Given the description of an element on the screen output the (x, y) to click on. 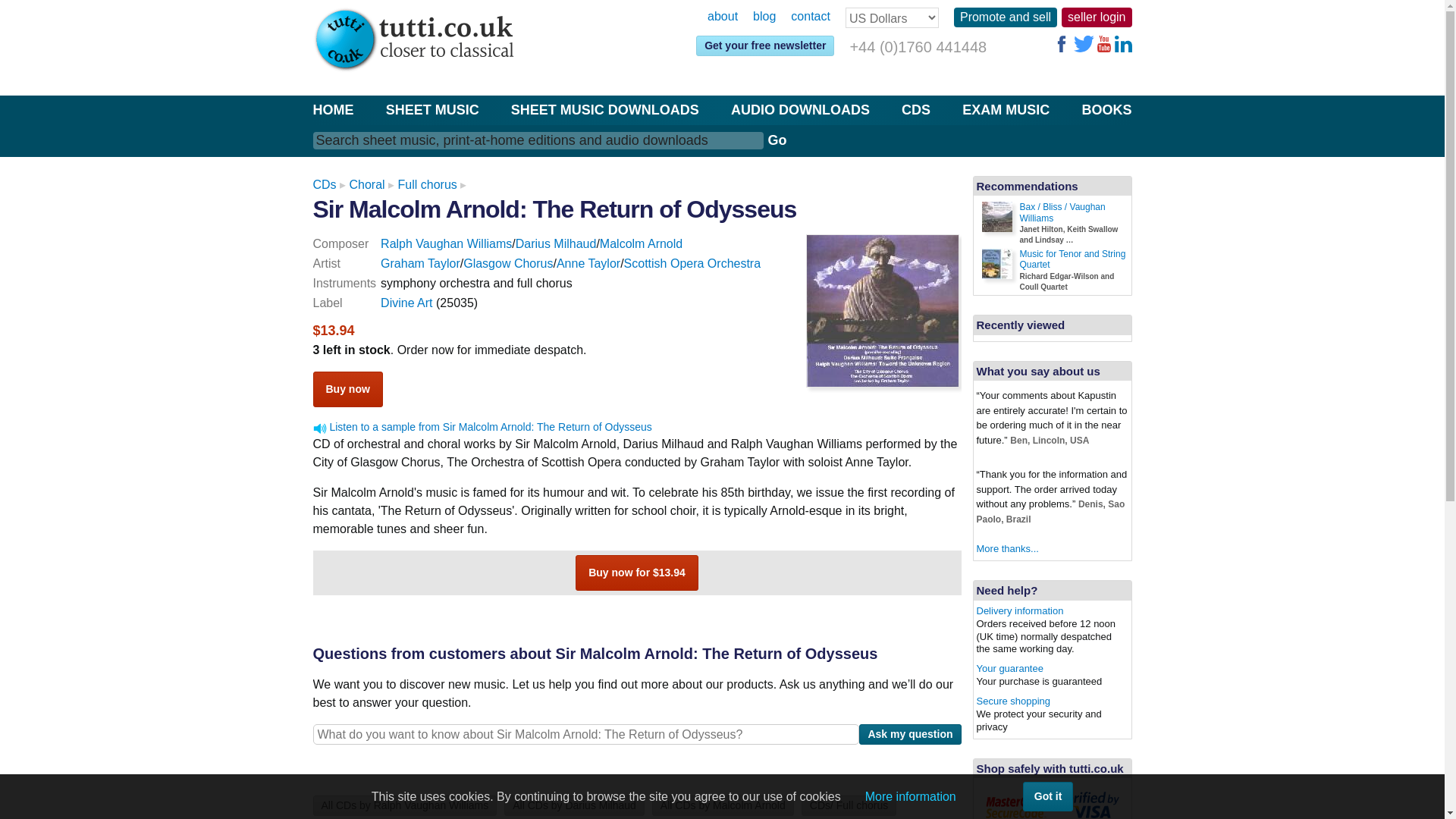
SHEET MUSIC (432, 109)
SHEET MUSIC DOWNLOADS (604, 109)
Buy now (347, 389)
Scottish Opera Orchestra (692, 263)
Promote and sell (1005, 17)
Ralph Vaughan Williams (446, 243)
Malcolm Arnold (640, 243)
Divine Art (406, 302)
Full chorus (427, 184)
Ask my question (909, 733)
